Given the description of an element on the screen output the (x, y) to click on. 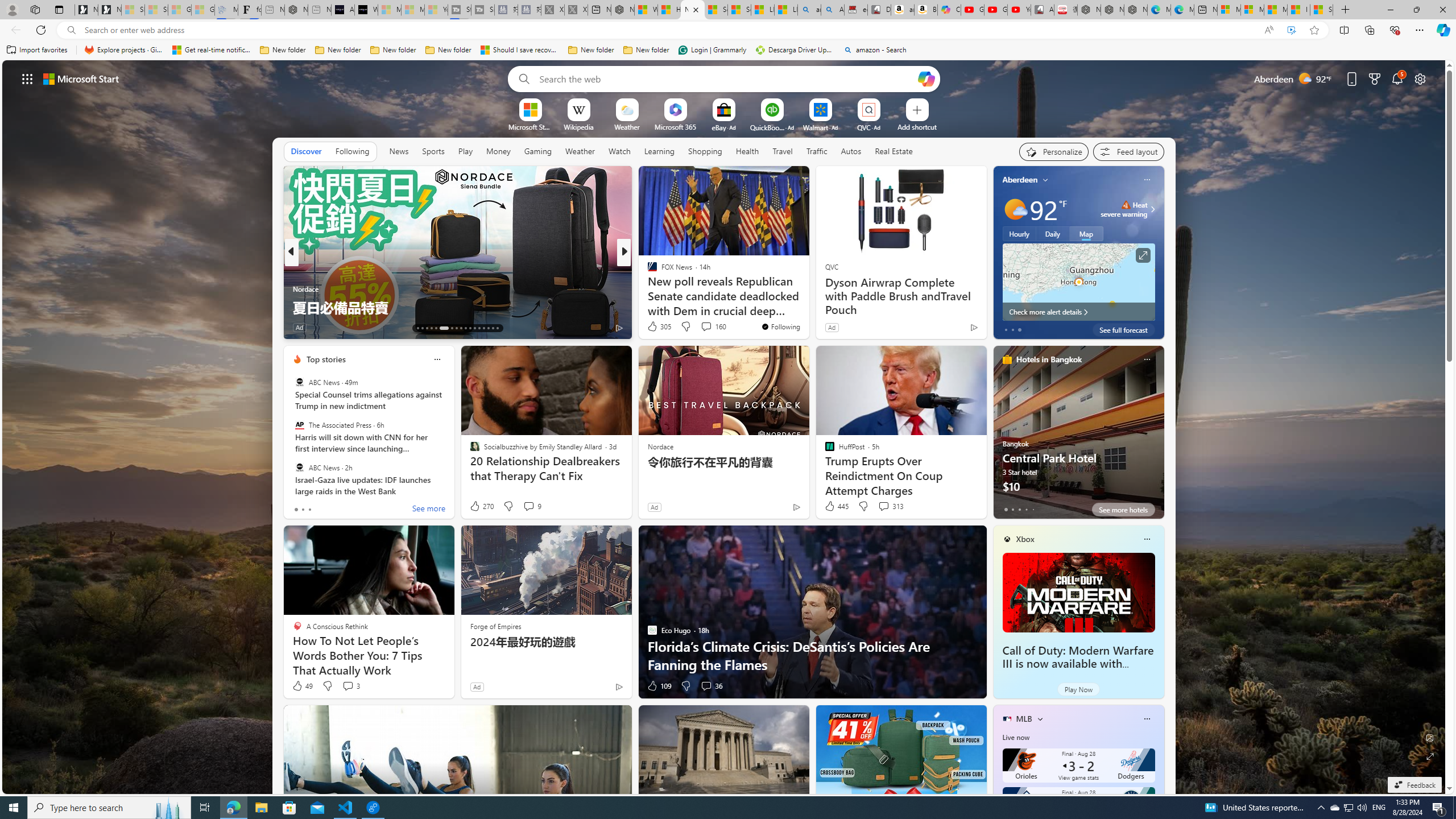
Nordace - #1 Japanese Best-Seller - Siena Smart Backpack (296, 9)
tab-4 (1032, 509)
AutomationID: tab-21 (460, 328)
Microsoft rewards (1374, 78)
Notifications (1397, 78)
Health (746, 151)
hotels-header-icon (1006, 358)
63 Like (652, 327)
Ad (476, 686)
Sports (432, 151)
Personalize your feed" (1054, 151)
